Given the description of an element on the screen output the (x, y) to click on. 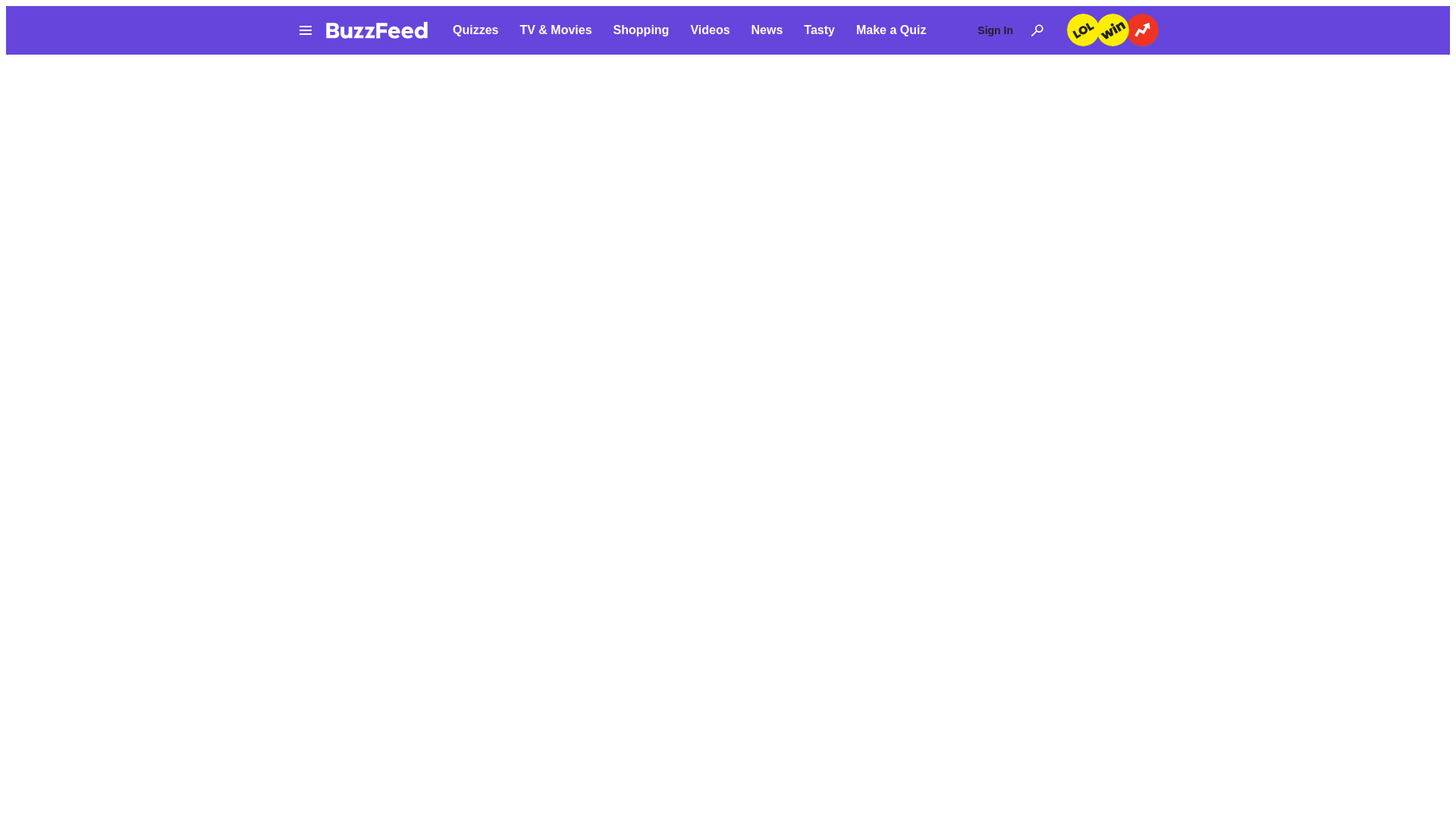
Tasty (818, 30)
Make a Quiz (891, 30)
Videos (709, 30)
lol Badge Feed (1083, 29)
News (767, 30)
Quizzes (474, 30)
Sign In (994, 30)
Shopping (640, 30)
win Badge Feed (1112, 29)
trending Badge Feed (1141, 29)
